Given the description of an element on the screen output the (x, y) to click on. 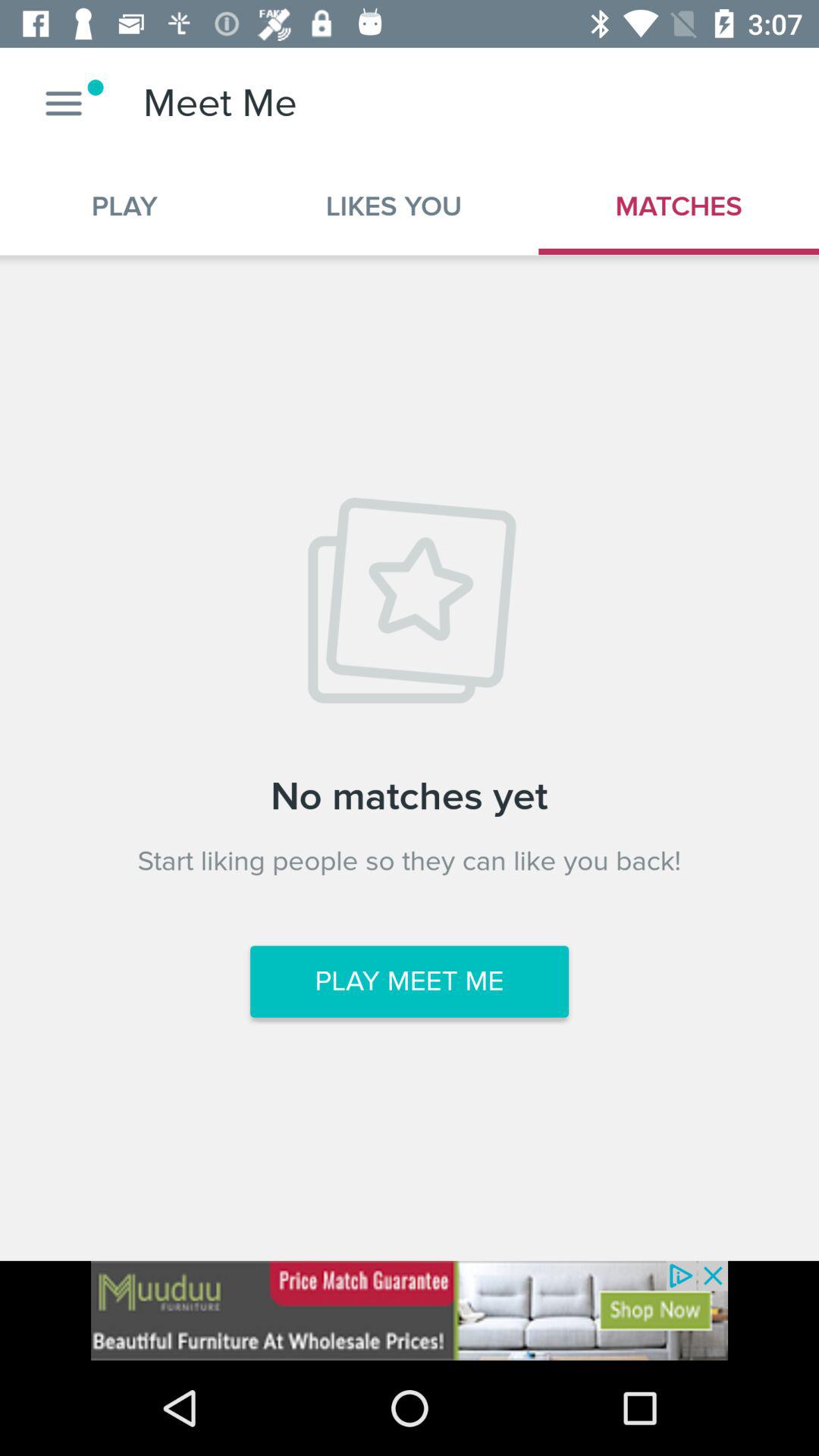
toggle menu (63, 103)
